Given the description of an element on the screen output the (x, y) to click on. 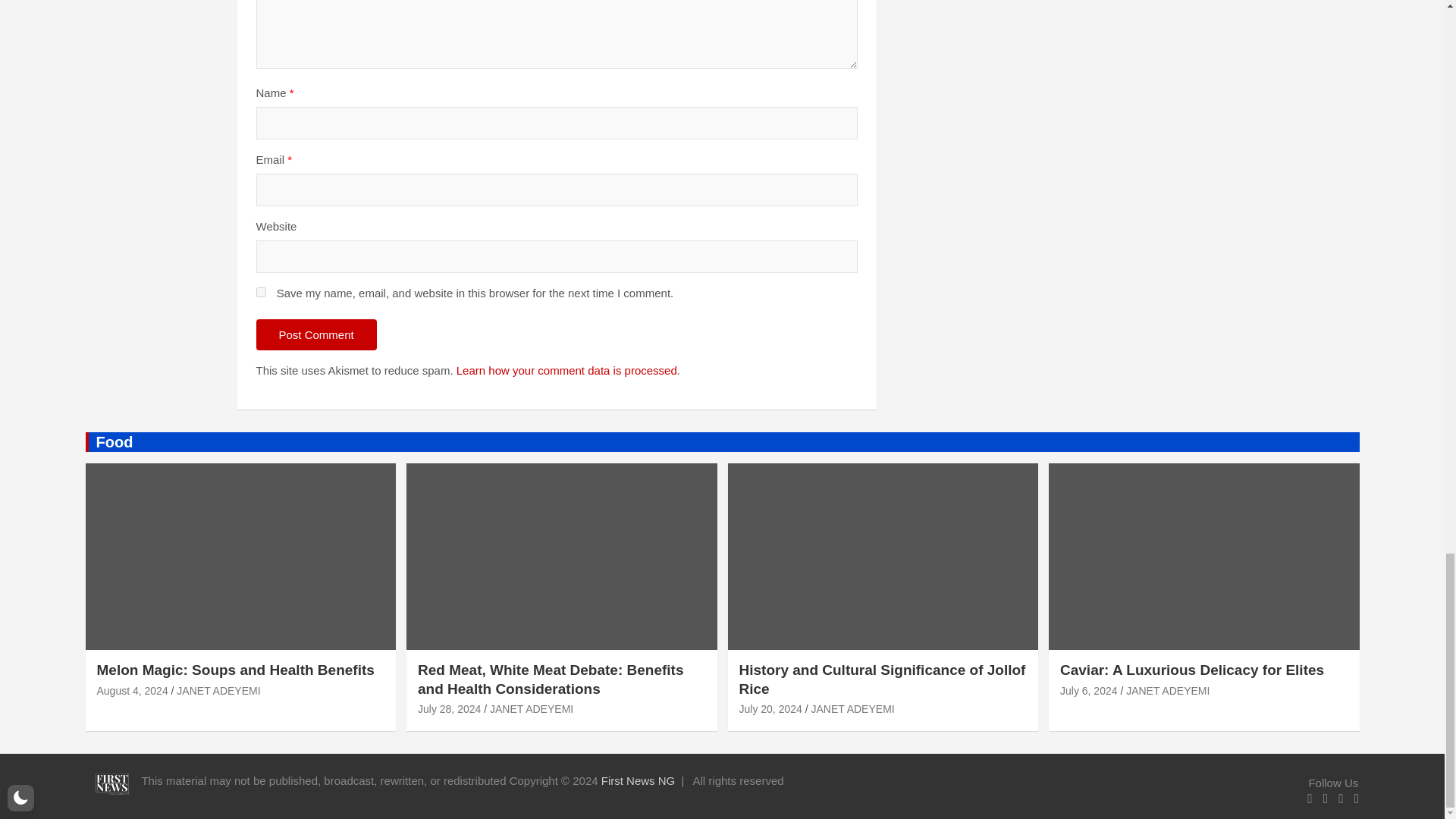
yes (261, 292)
Melon Magic: Soups and Health Benefits (132, 689)
Caviar: A Luxurious Delicacy for Elites (1088, 689)
First News NG (638, 780)
History and Cultural Significance of Jollof Rice (770, 708)
Post Comment (316, 334)
